Given the description of an element on the screen output the (x, y) to click on. 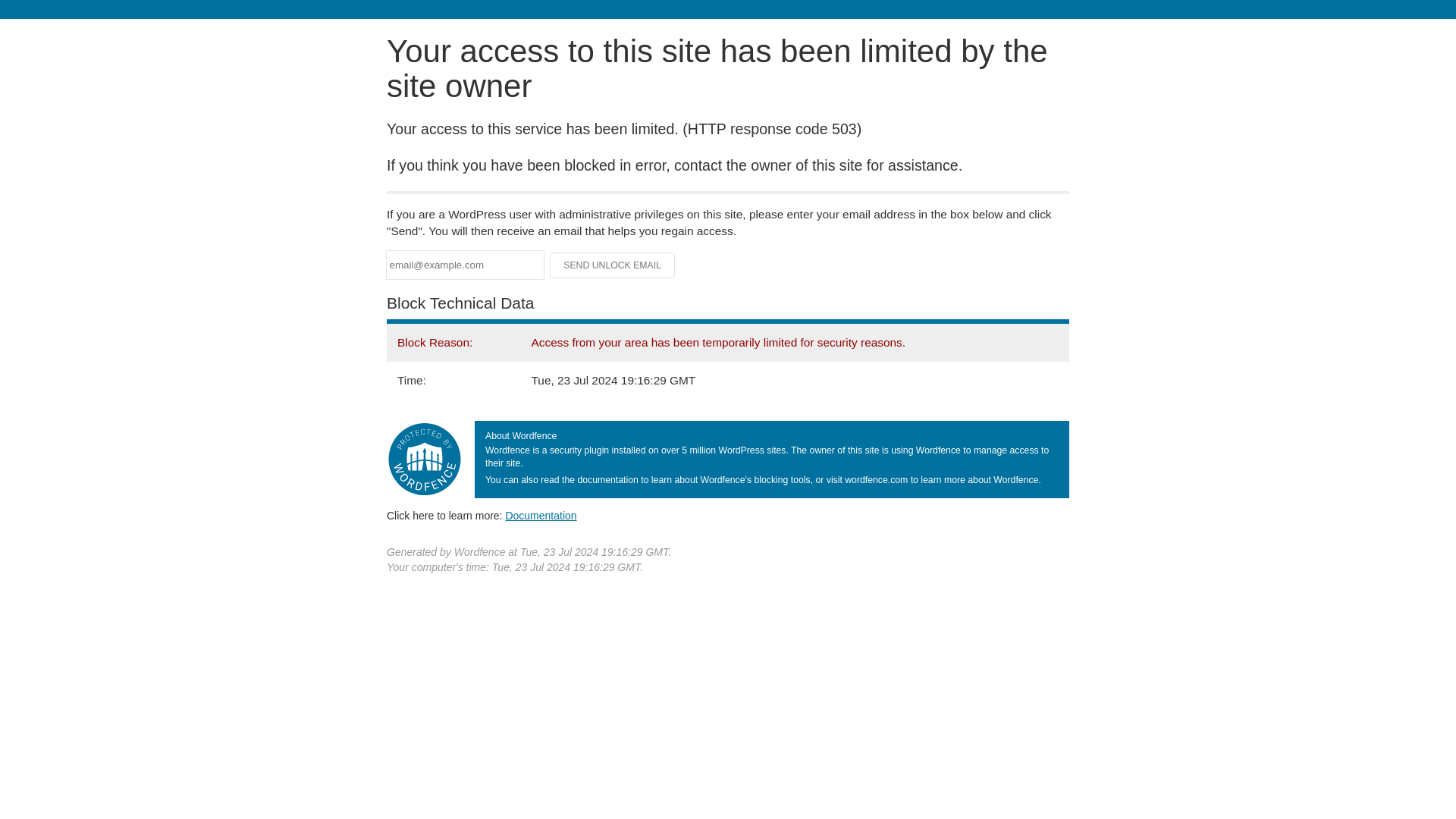
Send Unlock Email (612, 265)
Documentation (540, 515)
Send Unlock Email (612, 265)
